Given the description of an element on the screen output the (x, y) to click on. 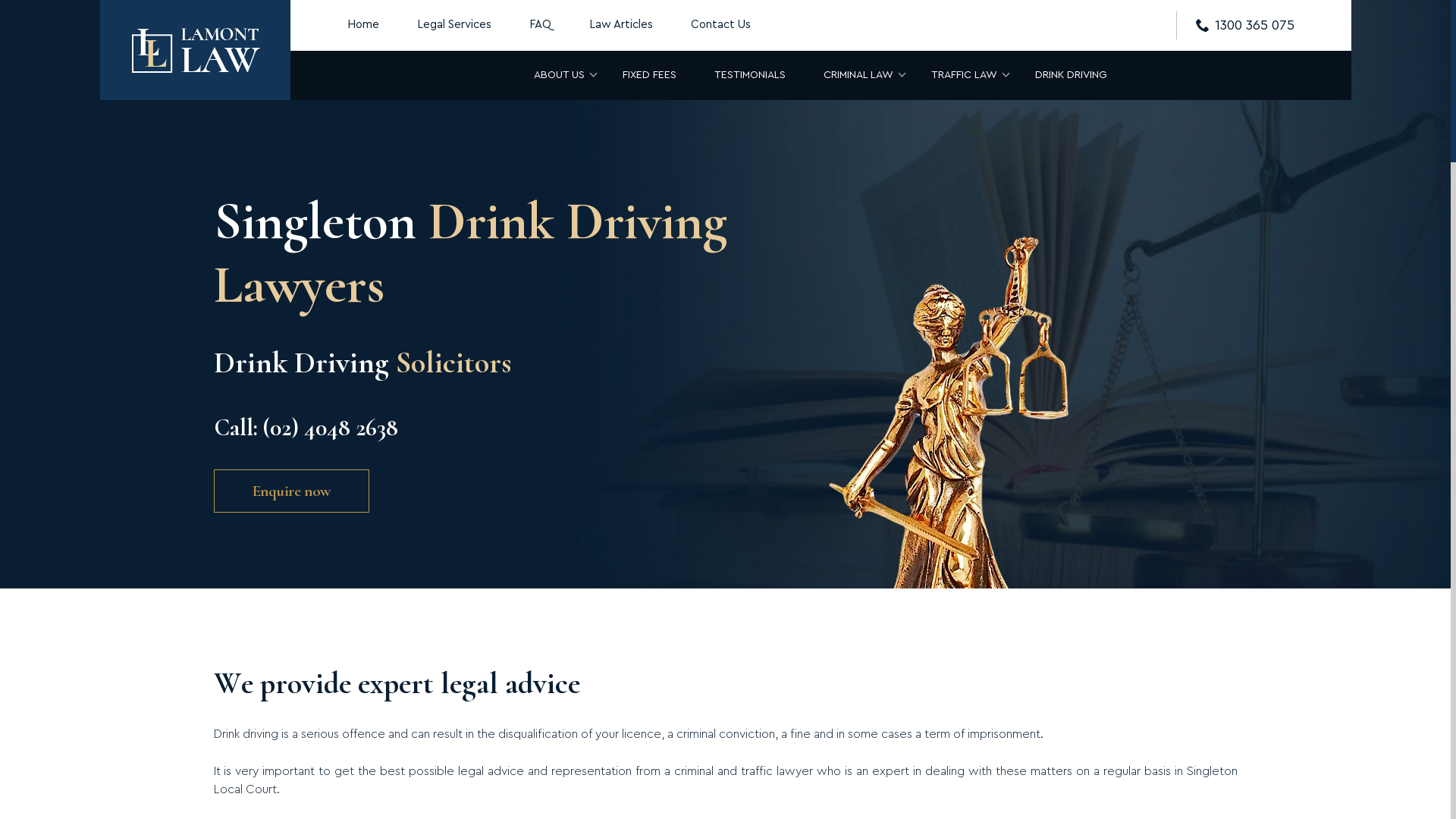
(02) 4048 2638 Element type: text (329, 426)
ABOUT US Element type: text (558, 74)
CRIMINAL LAW Element type: text (858, 74)
Home Element type: text (362, 25)
FAQ Element type: text (539, 25)
Law Articles Element type: text (620, 25)
Contact Us Element type: text (720, 25)
1300 365 075 Element type: text (1243, 25)
Enquire now Element type: text (291, 490)
FIXED FEES Element type: text (649, 74)
TRAFFIC LAW Element type: text (964, 74)
DRINK DRIVING Element type: text (1071, 74)
Legal Services Element type: text (453, 25)
TESTIMONIALS Element type: text (749, 74)
